Given the description of an element on the screen output the (x, y) to click on. 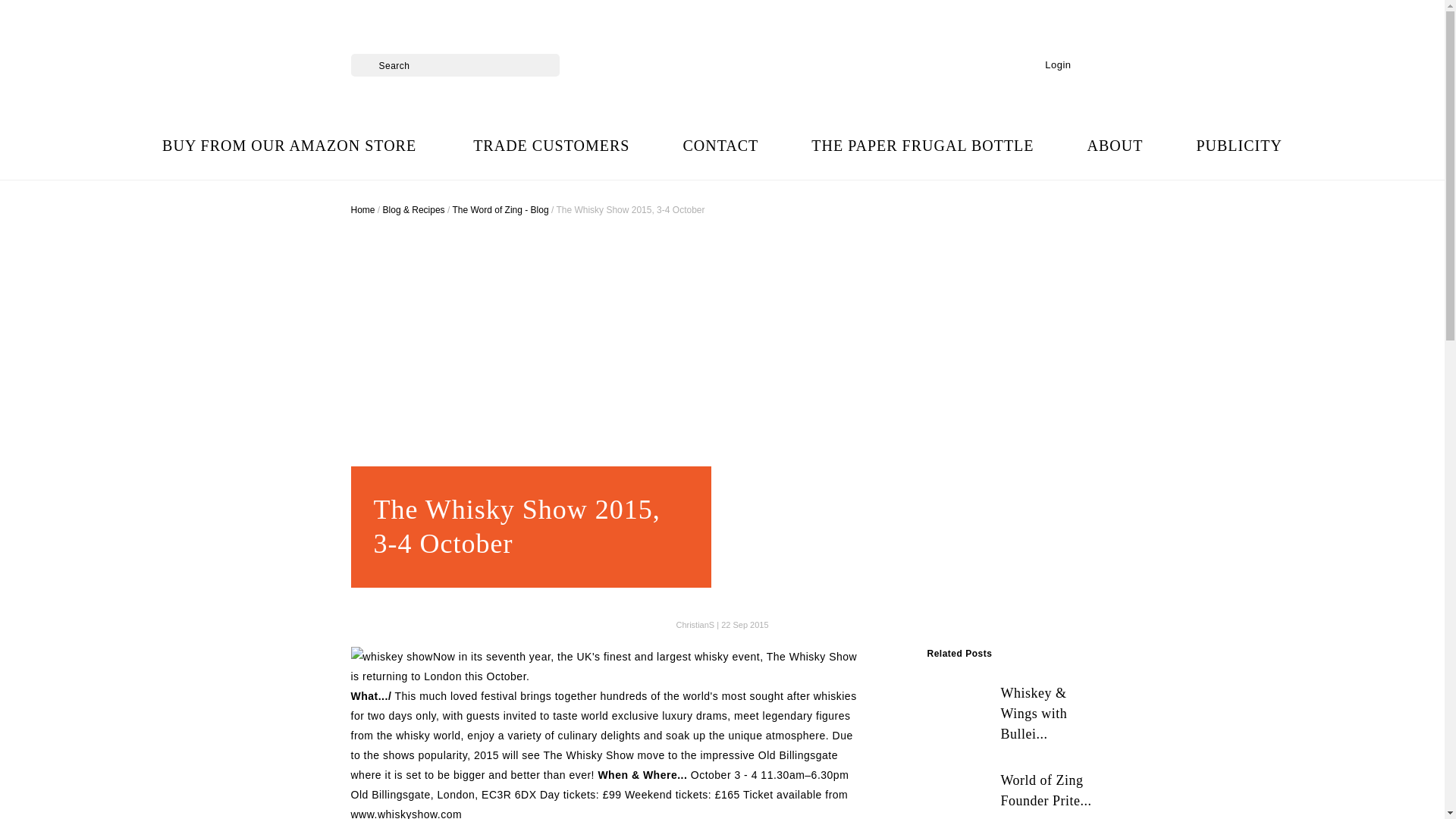
ABOUT (1114, 145)
Home (362, 209)
CONTACT (720, 145)
Login (1053, 64)
www.whiskyshow.com (405, 813)
World of Zing Founder Prite... (1009, 794)
THE PAPER FRUGAL BOTTLE (921, 145)
TRADE CUSTOMERS (550, 145)
PUBLICITY (1238, 145)
